Given the description of an element on the screen output the (x, y) to click on. 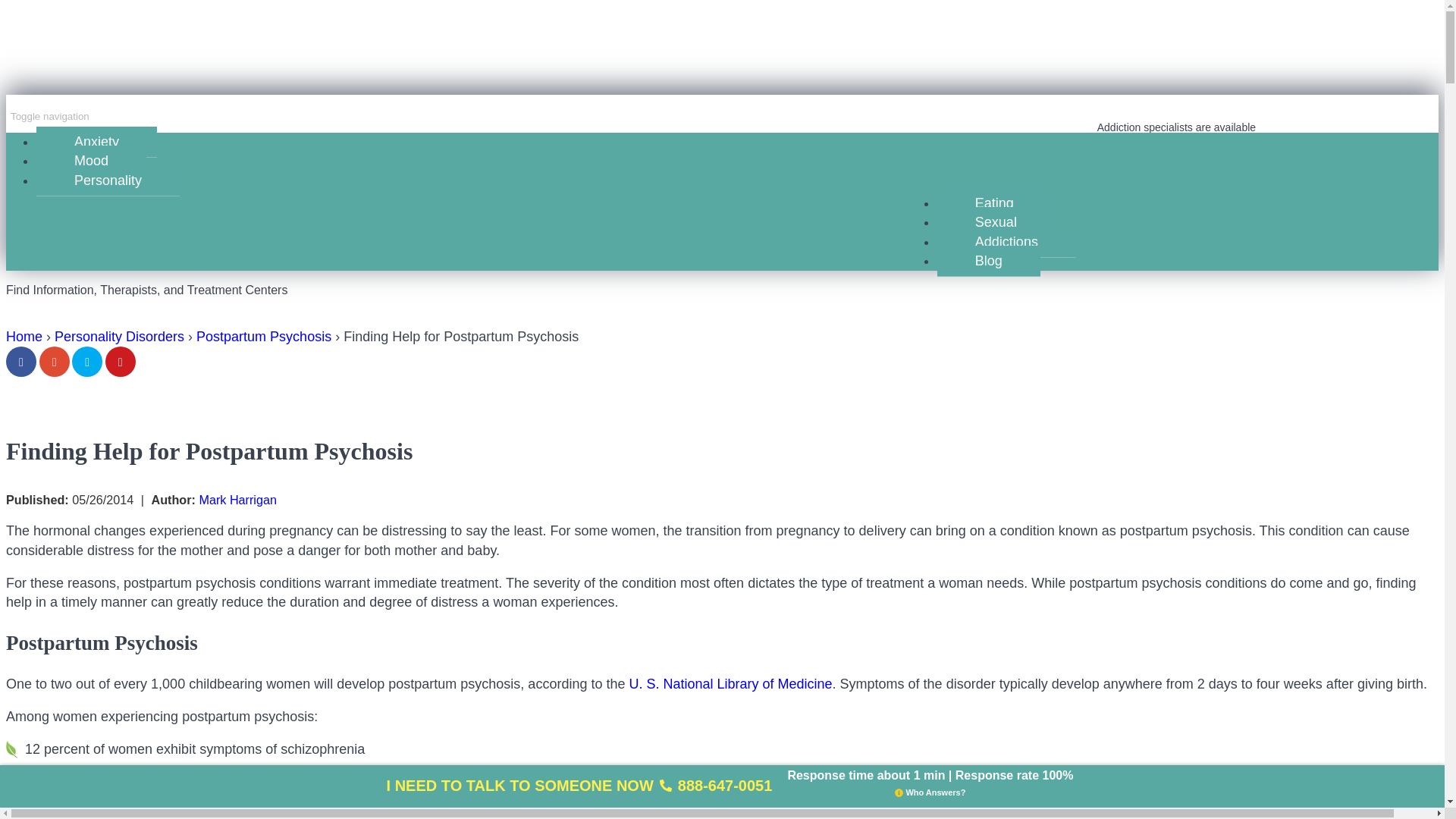
888-647-0051 (1176, 145)
Anxiety (96, 142)
Posts by Mark Harrigan (237, 499)
A Review of Postpartum Psychosis (729, 683)
Mood (91, 160)
Toggle navigation (49, 115)
